Given the description of an element on the screen output the (x, y) to click on. 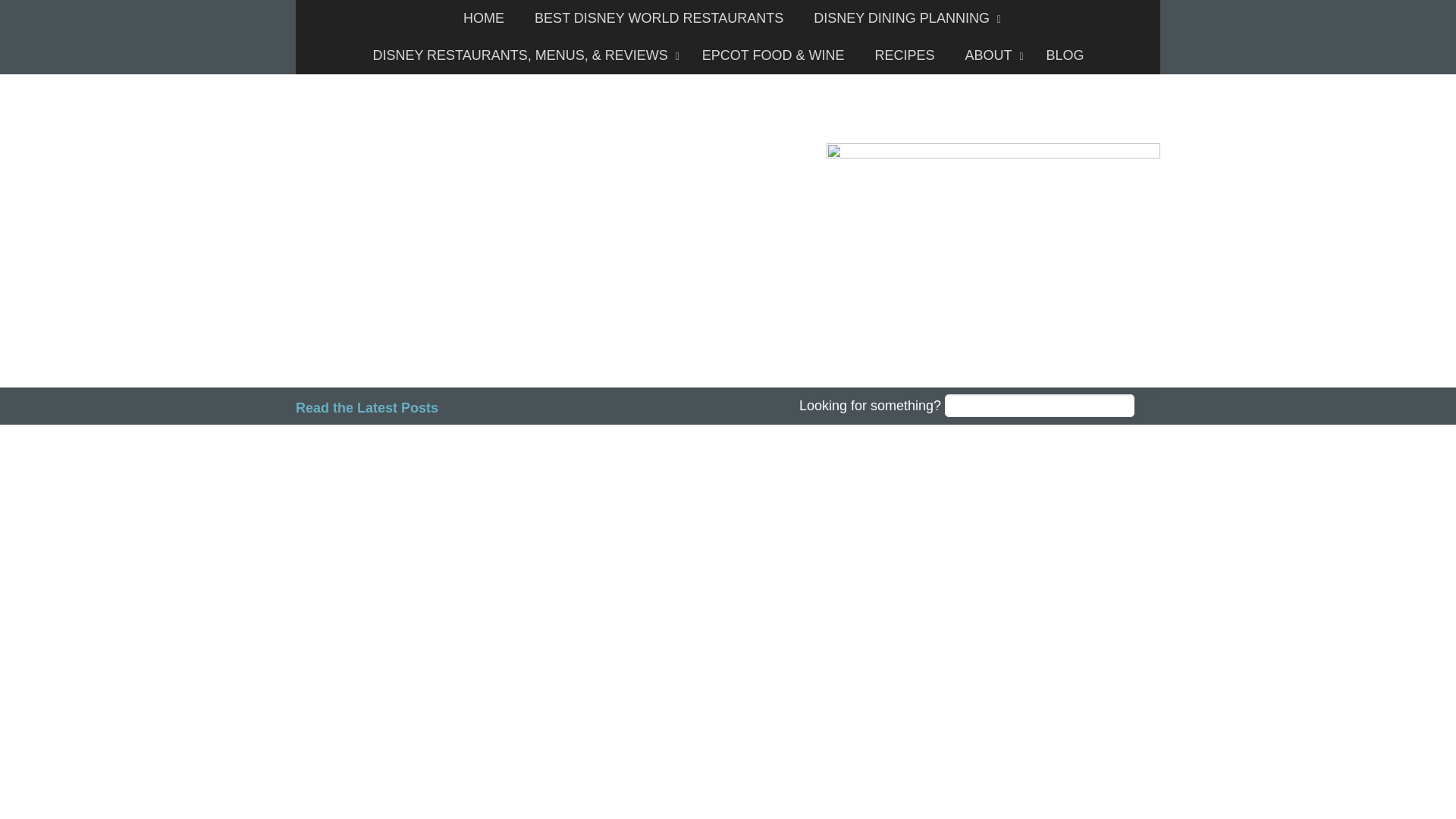
BEST DISNEY WORLD RESTAURANTS (658, 18)
DISNEY DINING PLANNING (903, 18)
HOME (483, 18)
